Given the description of an element on the screen output the (x, y) to click on. 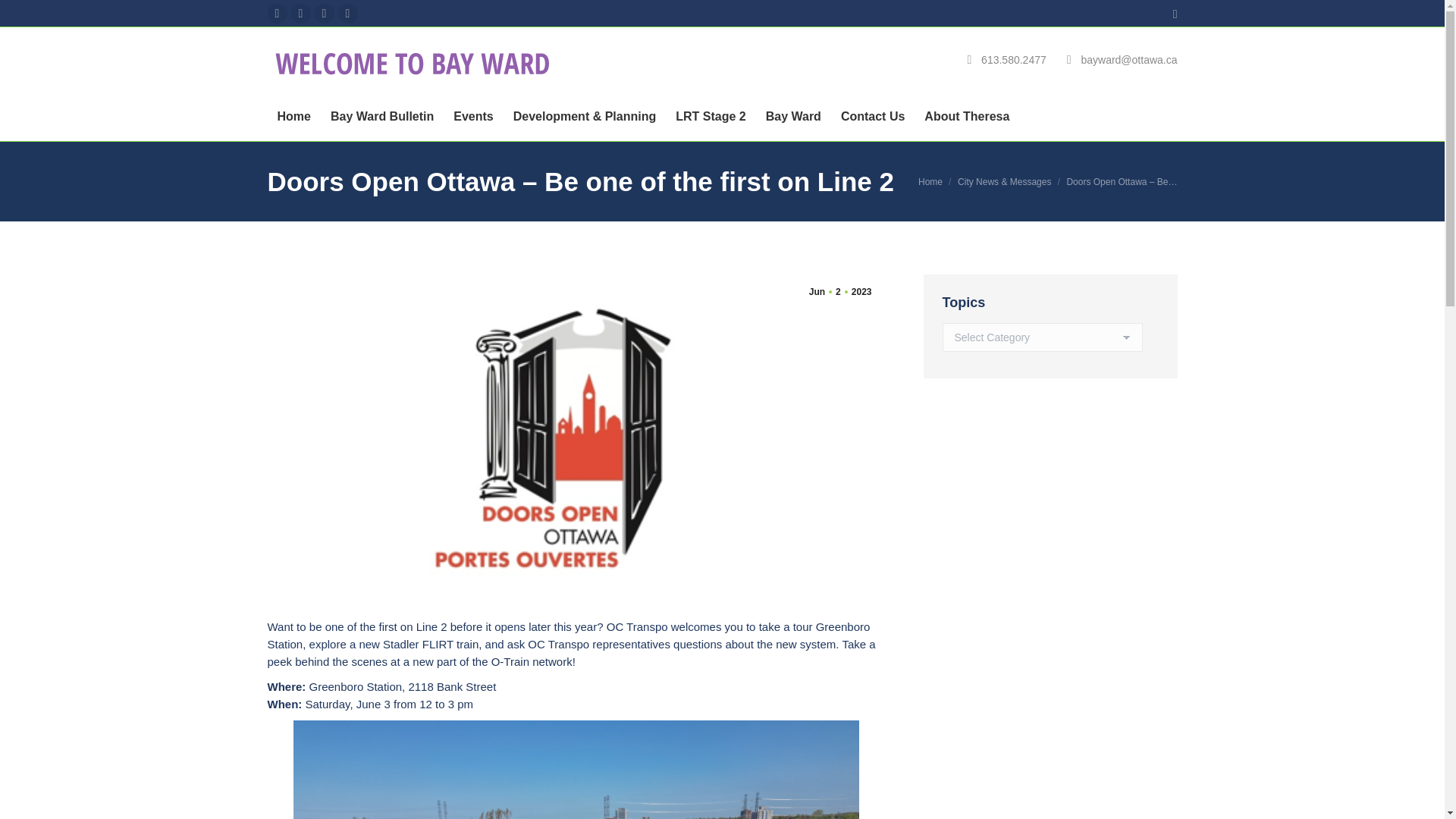
YouTube page opens in new window (323, 13)
Facebook page opens in new window (276, 13)
Bay Ward (793, 116)
LRT Stage 2 (710, 116)
Contact Us (872, 116)
Go! (25, 15)
About Theresa (966, 116)
X page opens in new window (301, 13)
X page opens in new window (301, 13)
Instagram page opens in new window (347, 13)
